Given the description of an element on the screen output the (x, y) to click on. 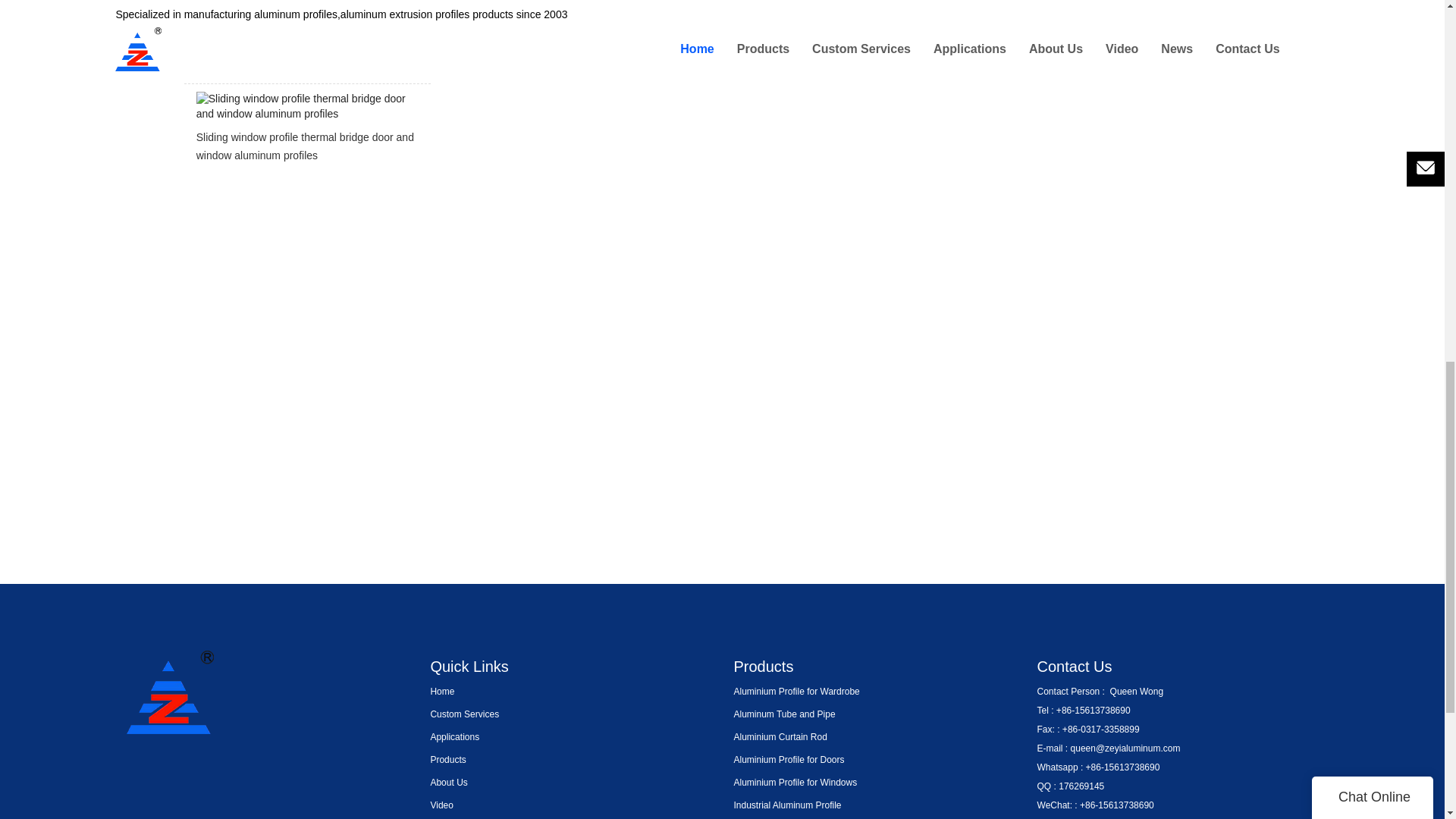
Powder coating aluminum profile for window suppliers (306, 43)
